Given the description of an element on the screen output the (x, y) to click on. 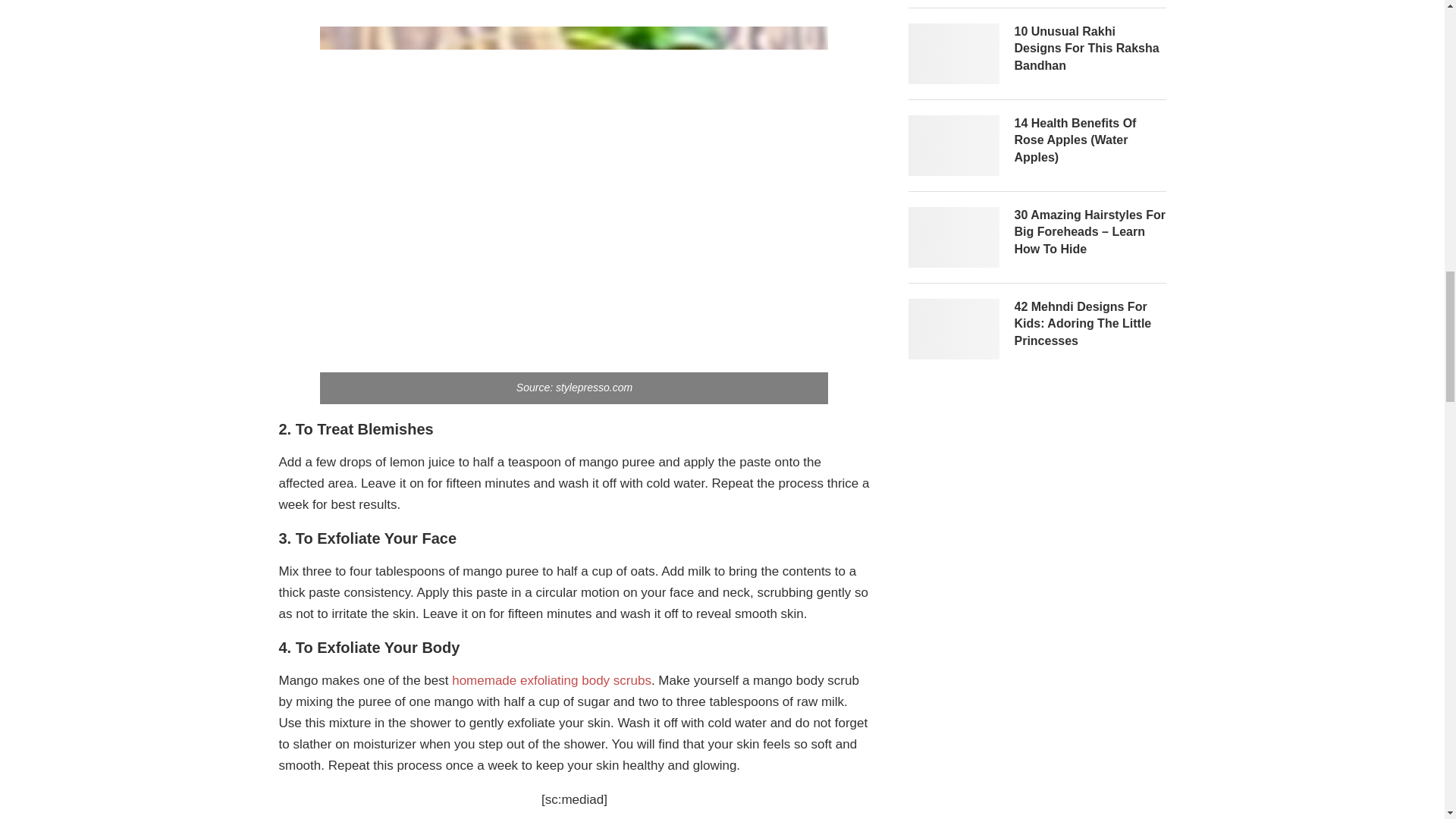
homemade exfoliating body scrubs (550, 680)
homemade exfoliating body scrubs (550, 680)
